Given the description of an element on the screen output the (x, y) to click on. 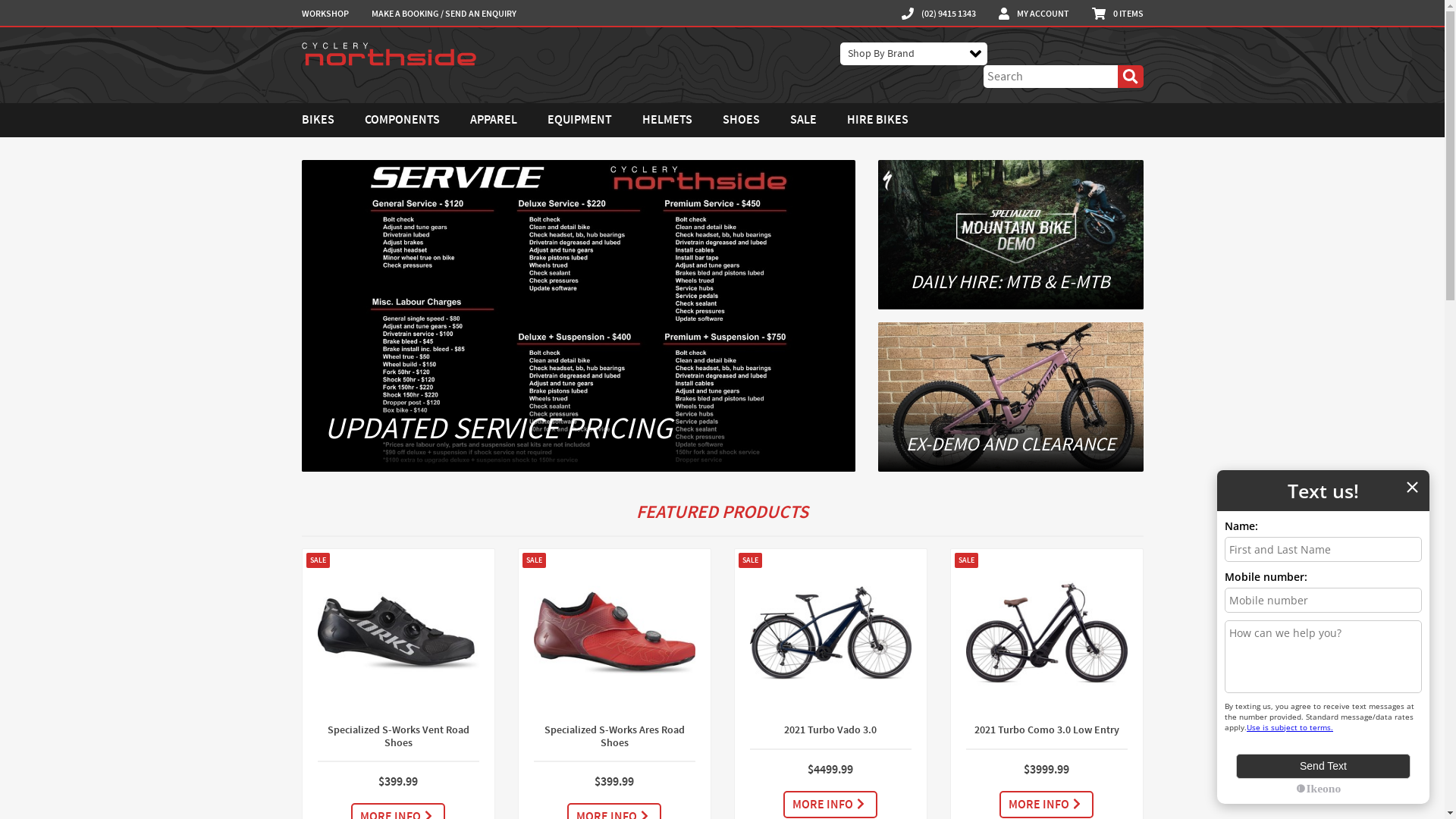
Specialized 2021 Turbo Como 3.0 Low Entry Element type: hover (1046, 632)
HELMETS Element type: text (666, 120)
DAILY HIRE: MTB & E-MTB Element type: text (1010, 234)
Specialized Specialized S-Works Ares Road Shoes Element type: hover (614, 632)
Specialized 2021 Turbo Vado 3.0 Element type: hover (829, 632)
Search Element type: hover (1129, 76)
APPAREL Element type: text (493, 120)
0 ITEMS Element type: text (1117, 13)
EX-DEMO and CLEARANCE Element type: hover (1010, 396)
MORE INFO Element type: text (1046, 804)
MY ACCOUNT Element type: text (1033, 13)
HIRE BIKES Element type: text (876, 120)
WORKSHOP Element type: text (324, 13)
Cyclery Northside Element type: text (388, 52)
UPDATED SERVICE PRICING Element type: hover (578, 315)
Specialized Specialized S-Works Vent Road Shoes Element type: hover (397, 632)
MORE INFO Element type: text (830, 804)
MAKE A BOOKING / SEND AN ENQUIRY Element type: text (443, 13)
UPDATED SERVICE PRICING Element type: text (578, 315)
EQUIPMENT Element type: text (579, 120)
SHOES Element type: text (740, 120)
(02) 9415 1343 Element type: text (938, 13)
BIKES Element type: text (317, 120)
SALE Element type: text (803, 120)
EX-DEMO AND CLEARANCE Element type: text (1010, 396)
COMPONENTS Element type: text (401, 120)
DAILY HIRE:  MTB  &  E-MTB Element type: hover (1010, 234)
